Given the description of an element on the screen output the (x, y) to click on. 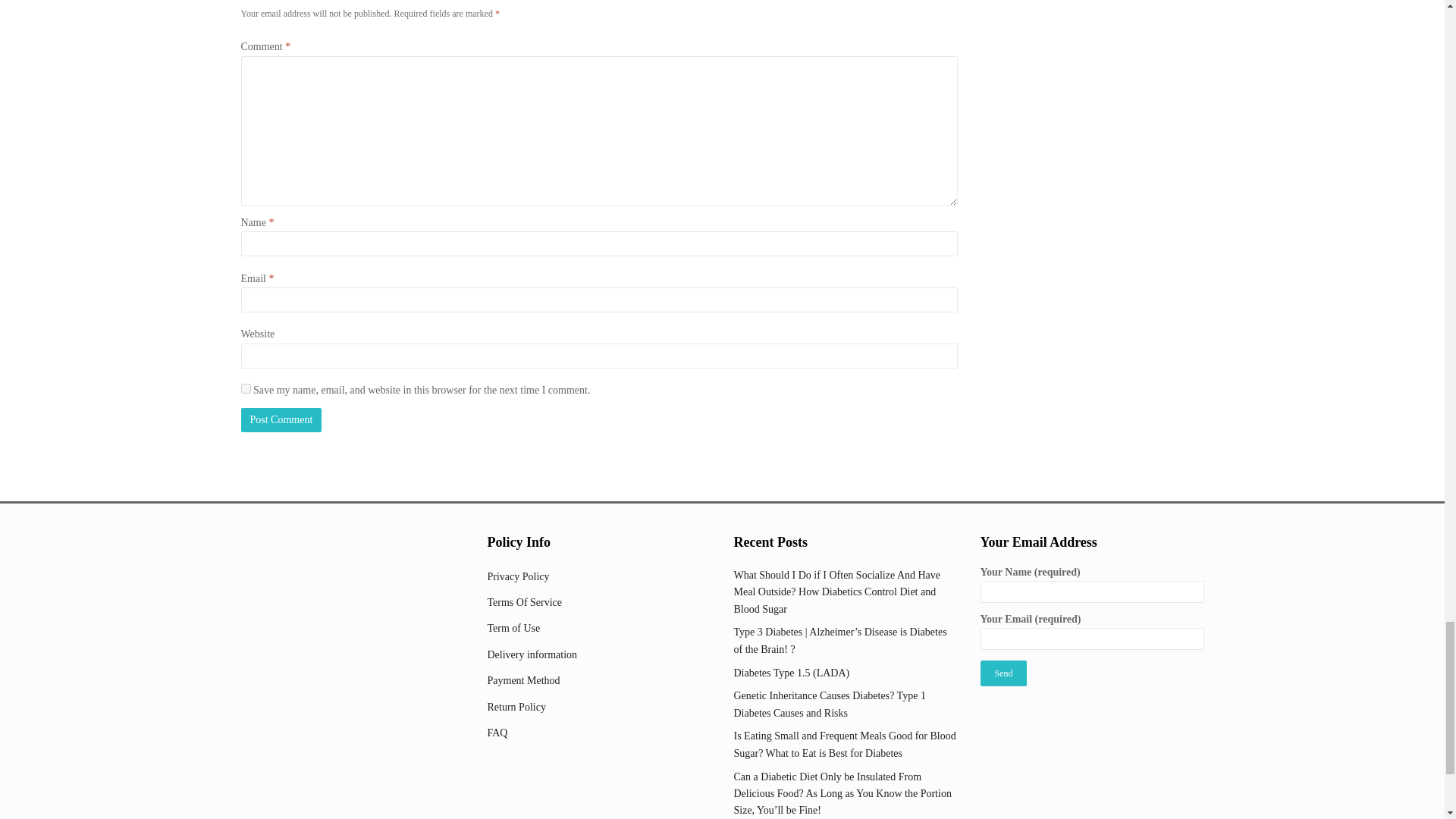
yes (245, 388)
Post Comment (281, 419)
Send (1002, 673)
